Given the description of an element on the screen output the (x, y) to click on. 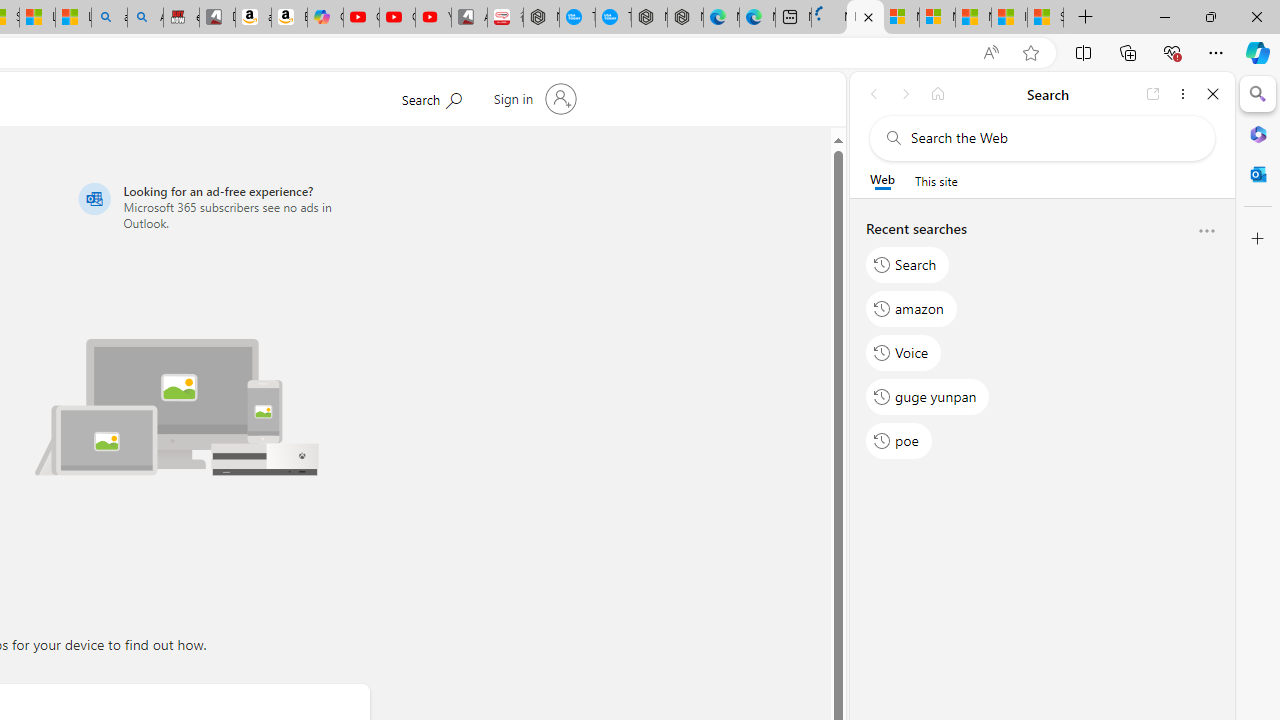
YouTube Kids - An App Created for Kids to Explore Content (433, 17)
Customize (1258, 239)
poe (898, 441)
Copilot (325, 17)
Outlook (1258, 174)
amazon - Search (109, 17)
amazon (911, 308)
